Given the description of an element on the screen output the (x, y) to click on. 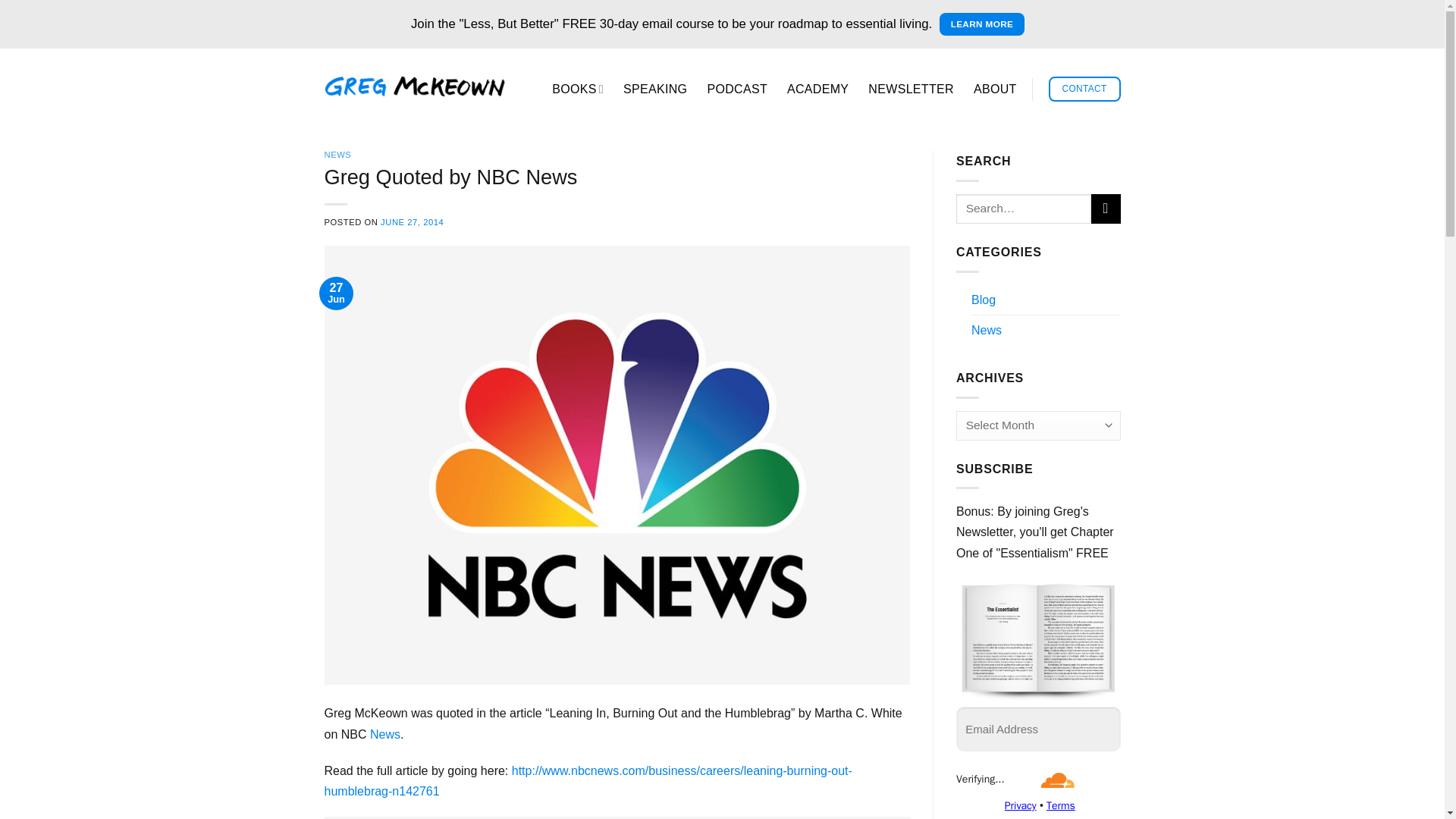
ABOUT (995, 89)
SPEAKING (655, 89)
News (384, 734)
JUNE 27, 2014 (412, 221)
News (986, 329)
NEWSLETTER (910, 89)
ACADEMY (817, 89)
CONTACT (1084, 88)
PODCAST (736, 89)
Greg McKeown - Greg McKeown author and speaker (414, 86)
BOOKS (577, 89)
Blog (983, 299)
LEARN MORE (982, 24)
NEWS (338, 153)
